Given the description of an element on the screen output the (x, y) to click on. 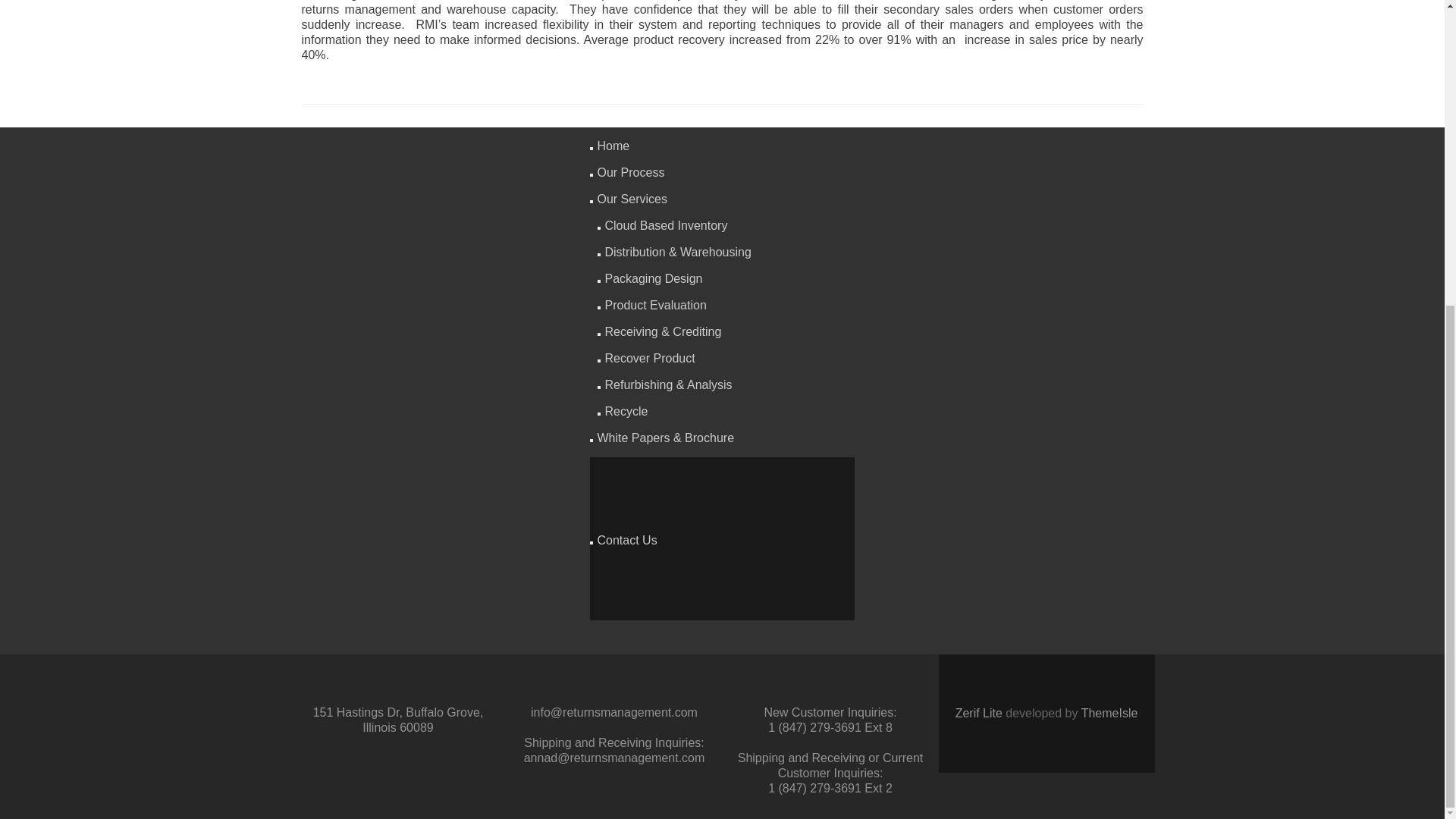
ThemeIsle (1109, 712)
Our Process (630, 172)
Contact Us (627, 540)
Recover Product (650, 358)
Packaging Design (654, 278)
Product Evaluation (655, 305)
Zerif Lite (980, 712)
Cloud Based Inventory (666, 225)
Home (613, 145)
Our Services (631, 198)
